Given the description of an element on the screen output the (x, y) to click on. 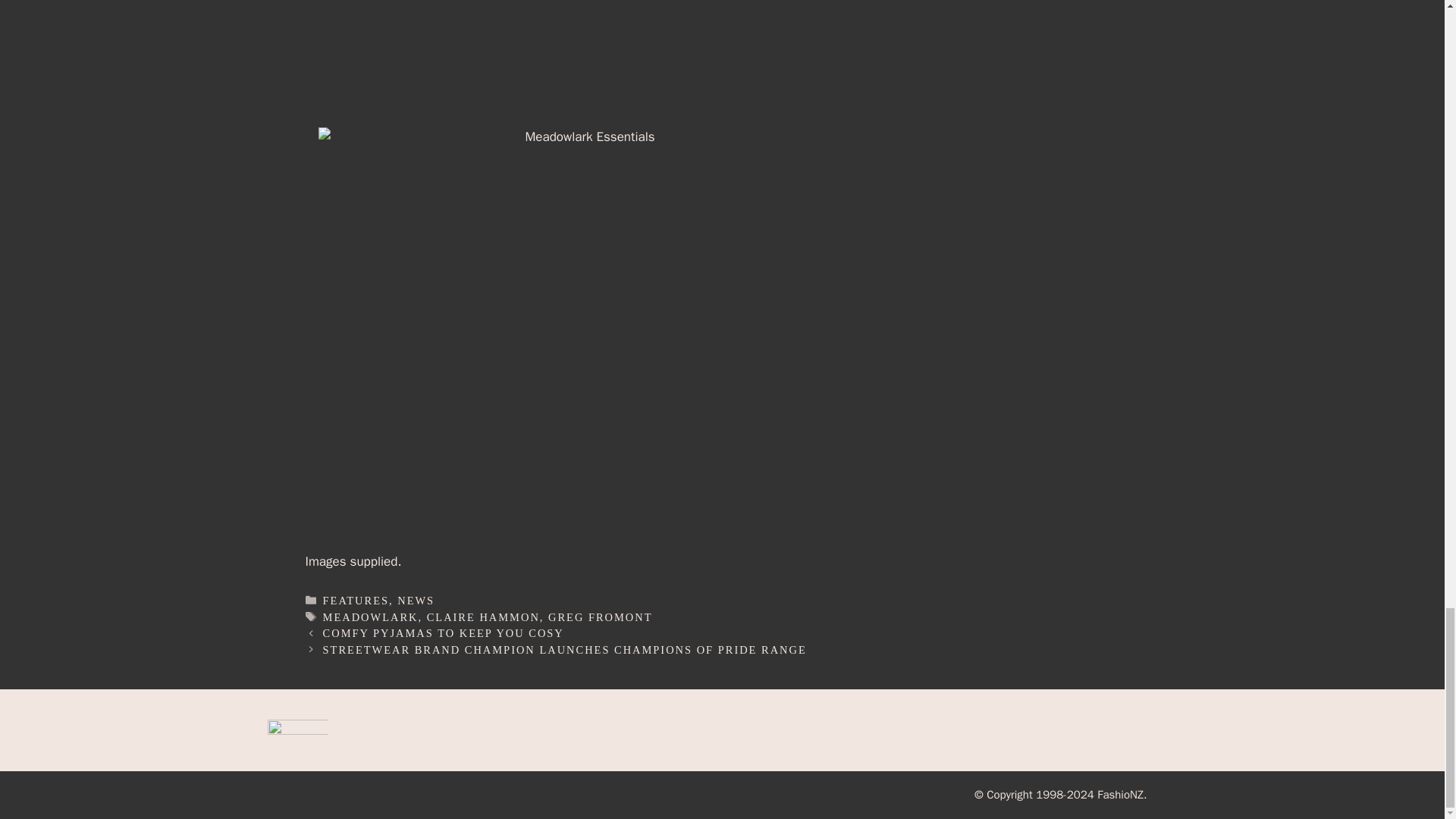
STREETWEAR BRAND CHAMPION LAUNCHES CHAMPIONS OF PRIDE RANGE (564, 649)
COMFY PYJAMAS TO KEEP YOU COSY (443, 633)
CLAIRE HAMMON (483, 616)
GREG FROMONT (600, 616)
NEWS (415, 600)
FEATURES (355, 600)
MEADOWLARK (371, 616)
